Given the description of an element on the screen output the (x, y) to click on. 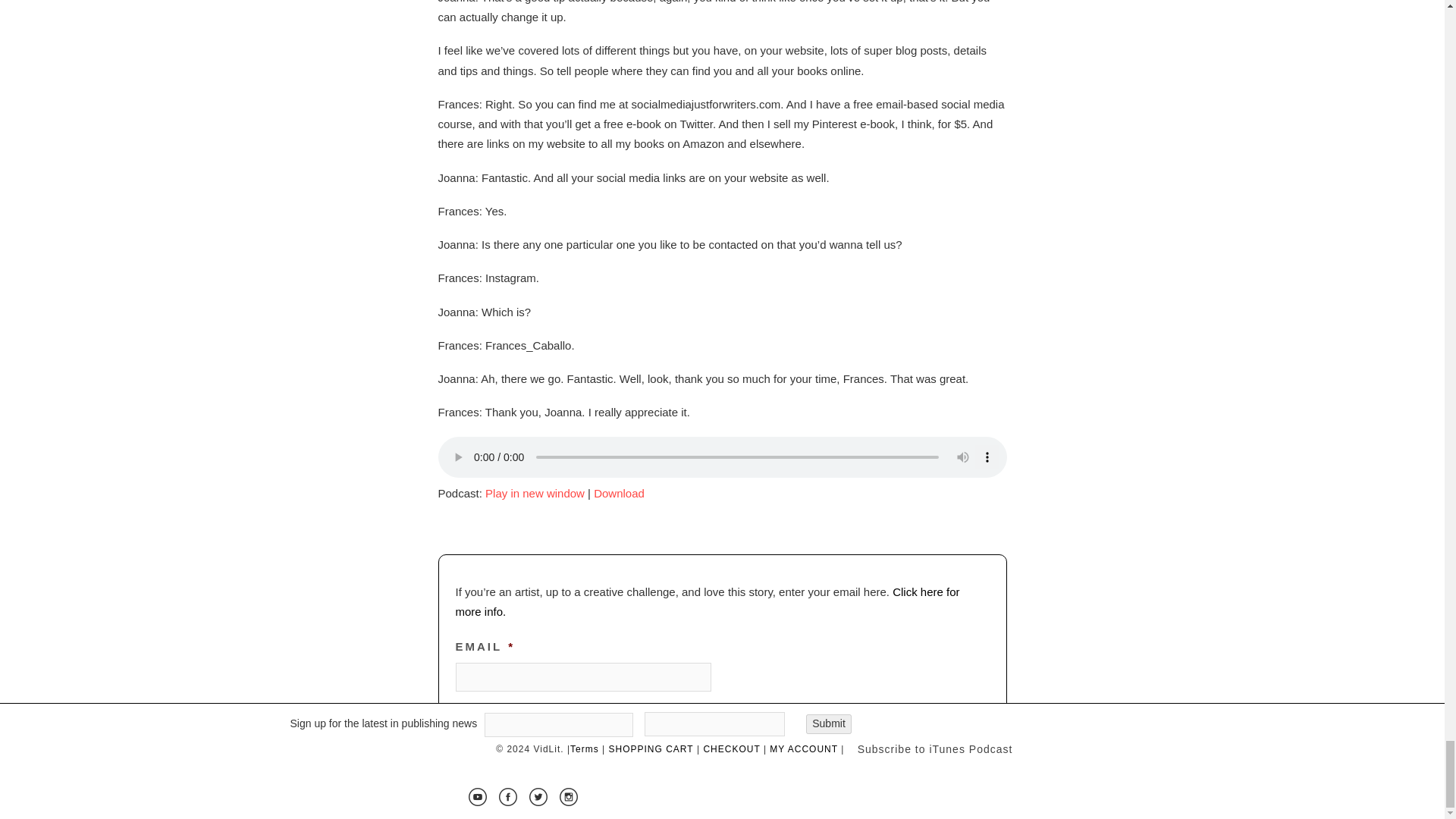
Submit (746, 717)
Play in new window (534, 492)
Download (619, 492)
Play in new window (534, 492)
Submit (746, 717)
Download (619, 492)
Click here for more info. (706, 601)
